Given the description of an element on the screen output the (x, y) to click on. 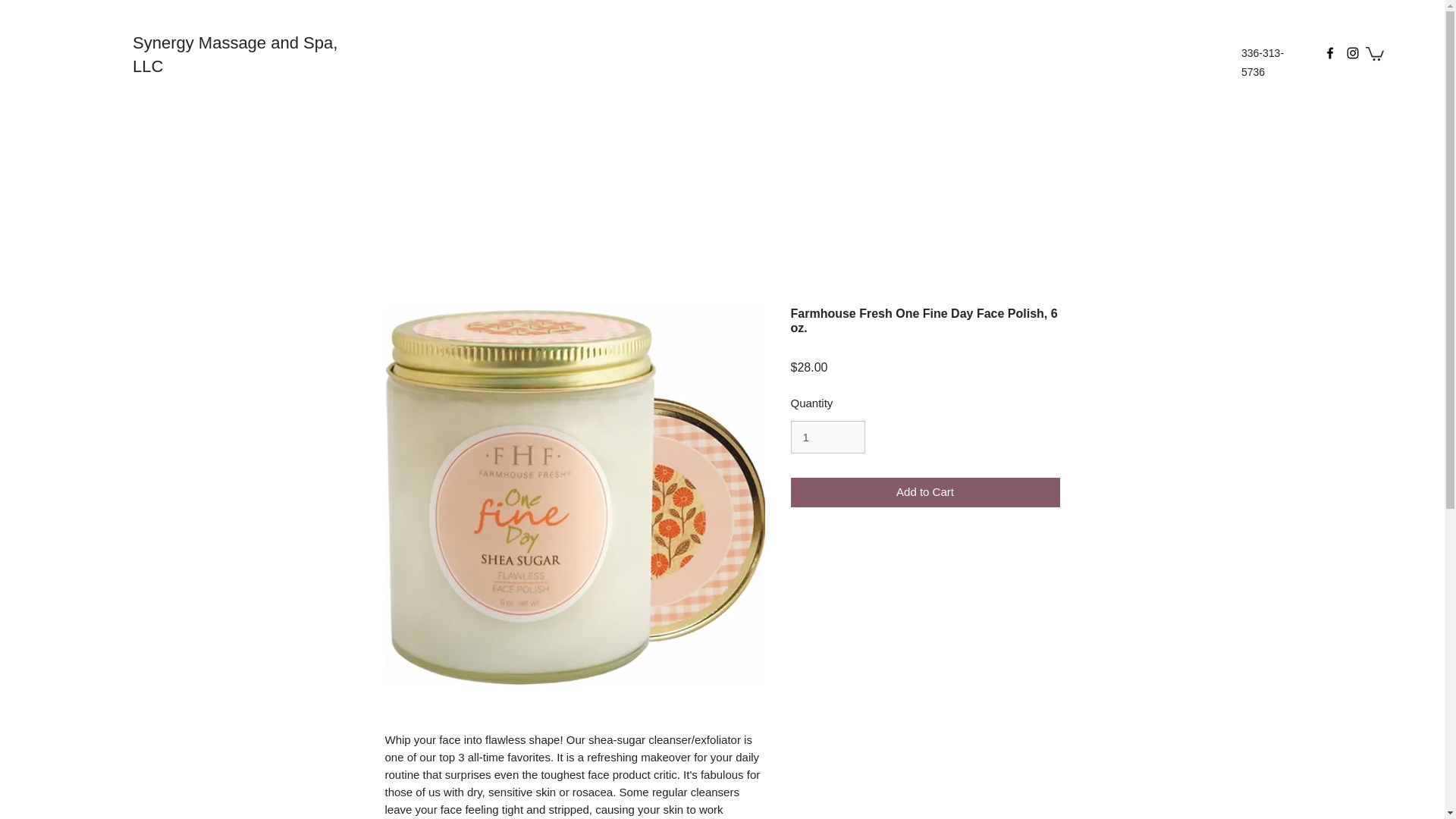
1 (827, 436)
Add to Cart (924, 491)
Synergy Massage and Spa, LLC (234, 54)
